Given the description of an element on the screen output the (x, y) to click on. 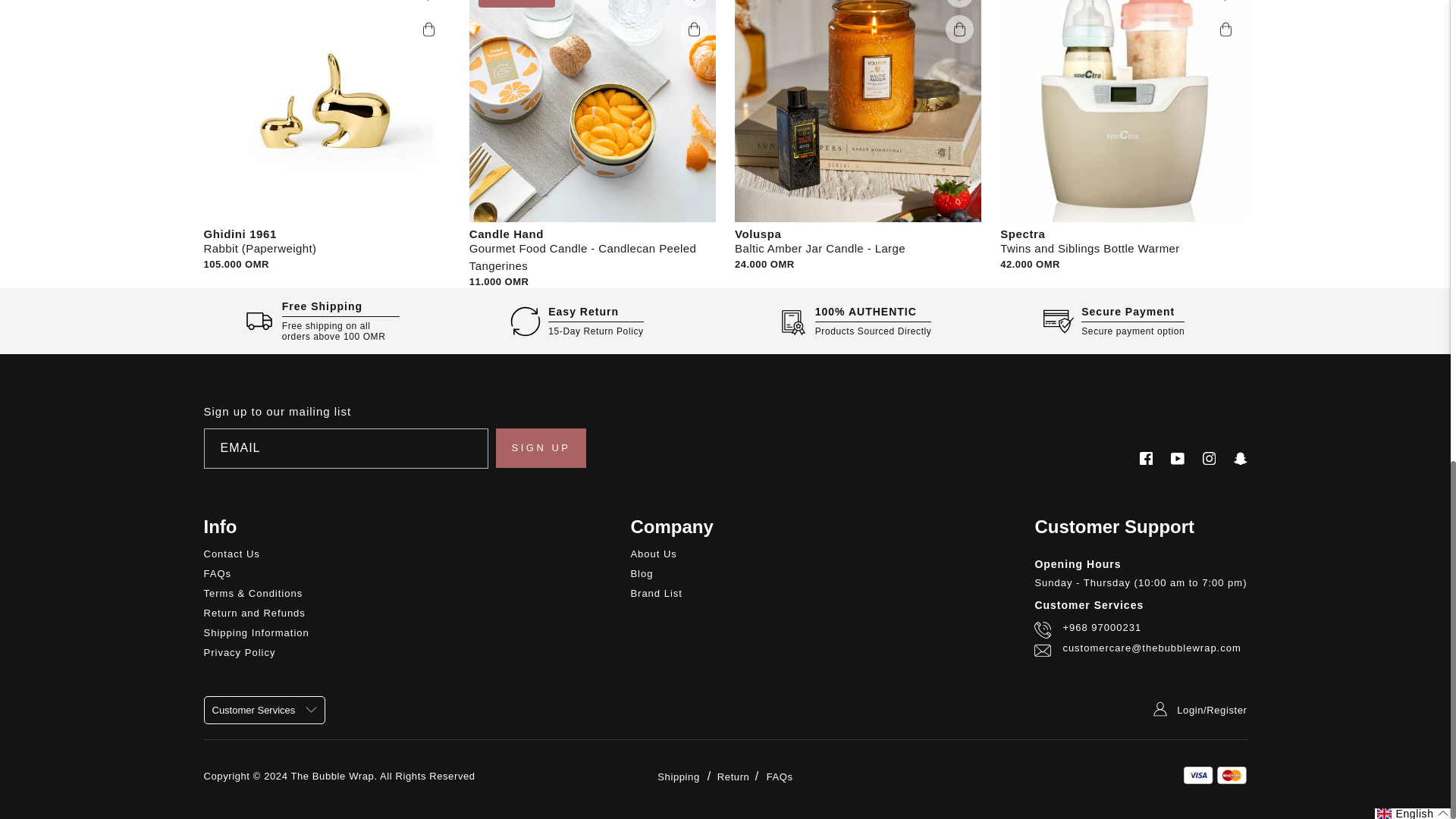
Sign up (541, 447)
